Given the description of an element on the screen output the (x, y) to click on. 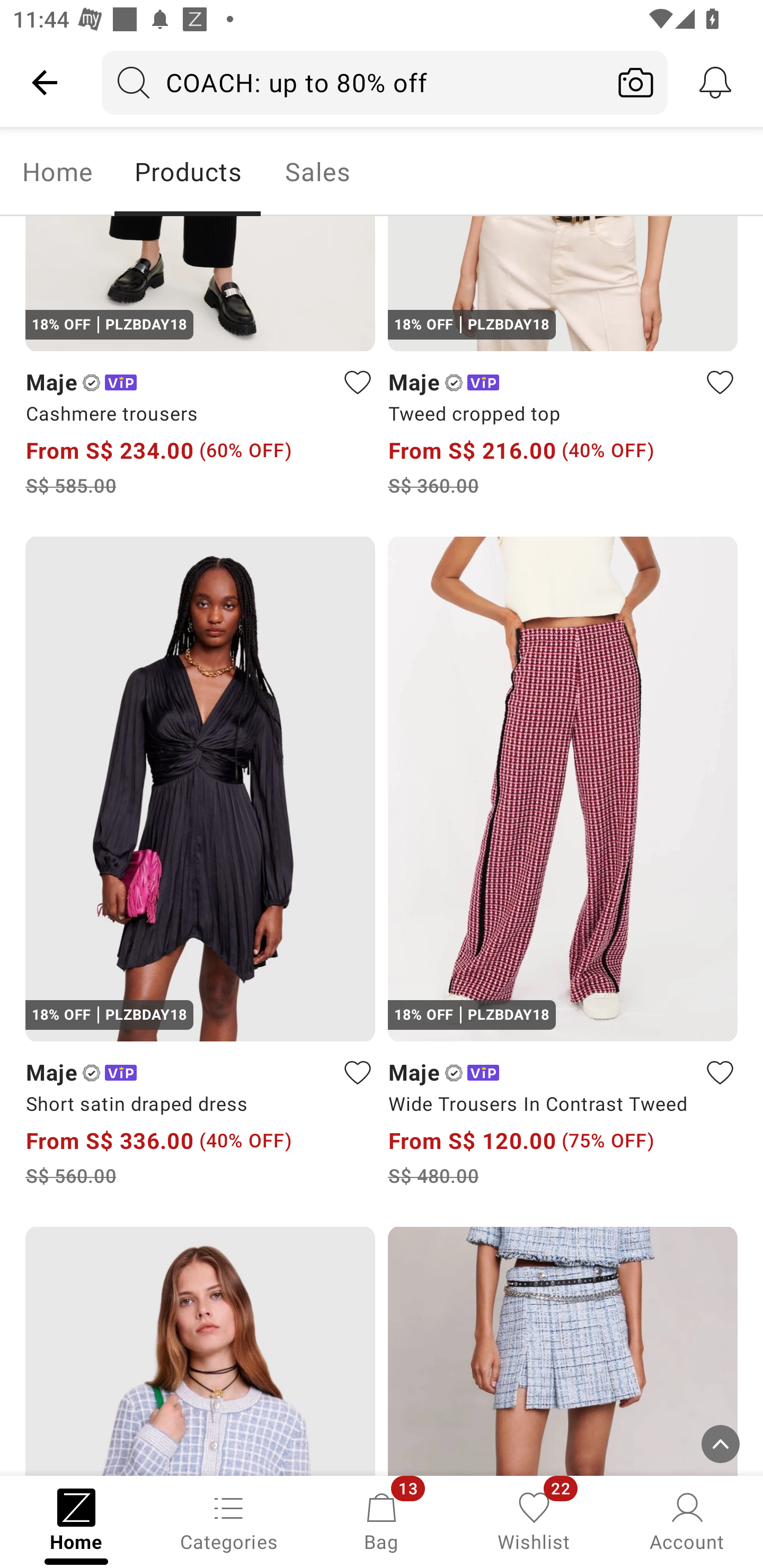
Navigate up (44, 82)
COACH: up to 80% off (352, 82)
Home (57, 171)
Sales (317, 171)
Categories (228, 1519)
Bag, 13 new notifications Bag (381, 1519)
Wishlist, 22 new notifications Wishlist (533, 1519)
Account (686, 1519)
